Given the description of an element on the screen output the (x, y) to click on. 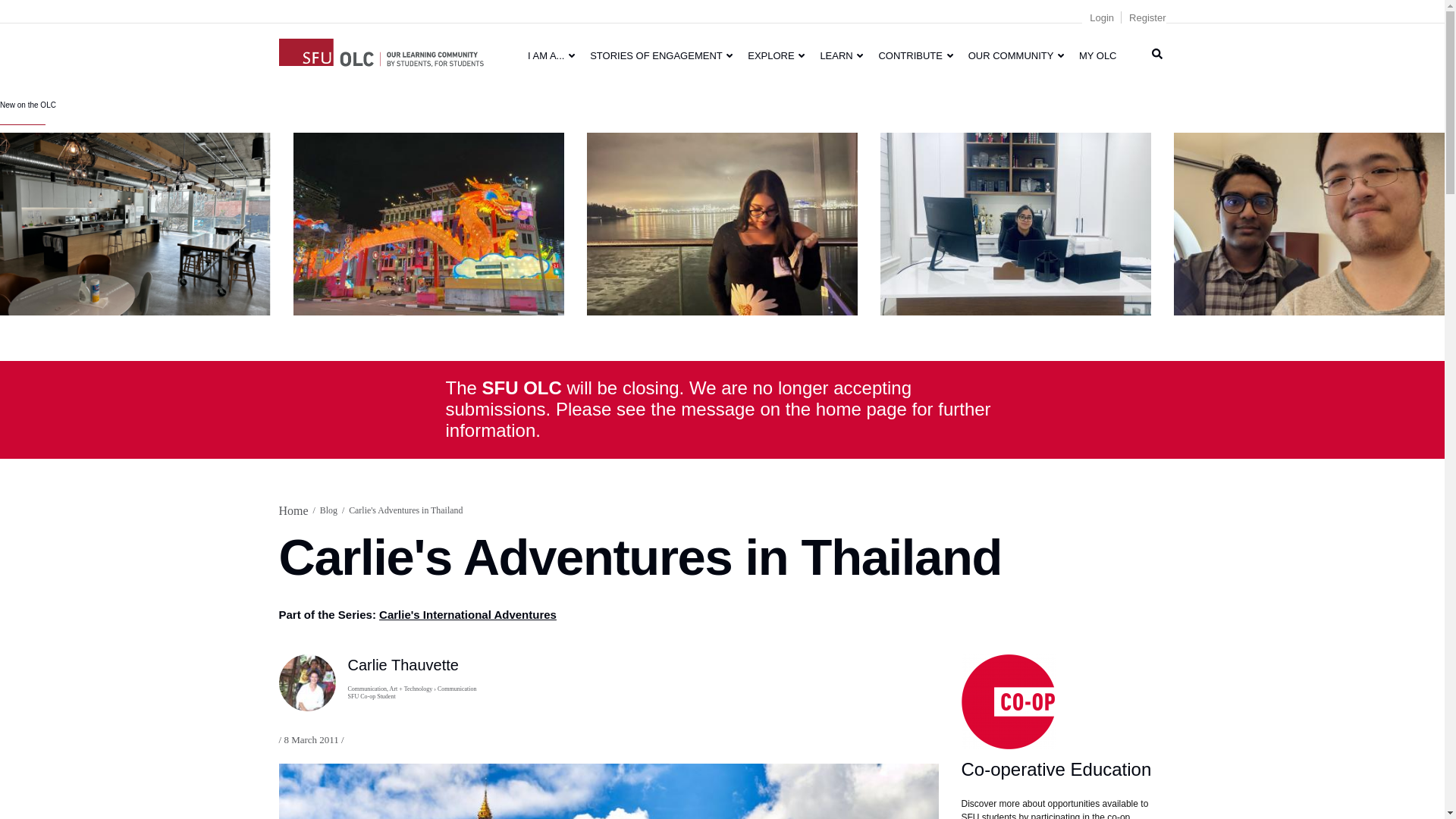
CONTRIBUTE (914, 55)
STORIES OF ENGAGEMENT (660, 55)
Taken by Kamaljeet Kular  (1015, 223)
Working together on a project! (1308, 223)
EXPLORE (775, 55)
Register (1147, 17)
Home (381, 50)
LEARN (841, 55)
OUR COMMUNITY (1015, 55)
Login (1101, 17)
Chinatown (429, 223)
I AM A... (550, 55)
